Given the description of an element on the screen output the (x, y) to click on. 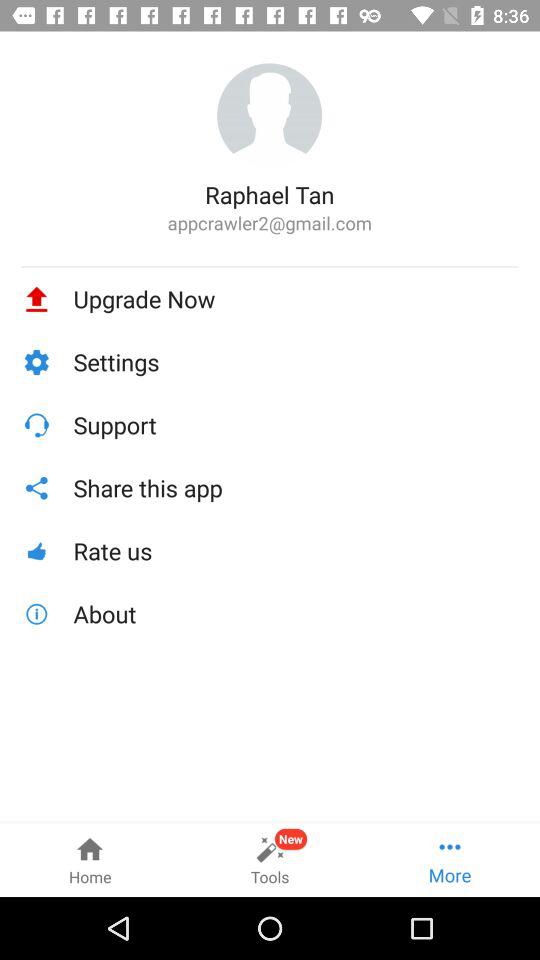
tap share this app (296, 487)
